Given the description of an element on the screen output the (x, y) to click on. 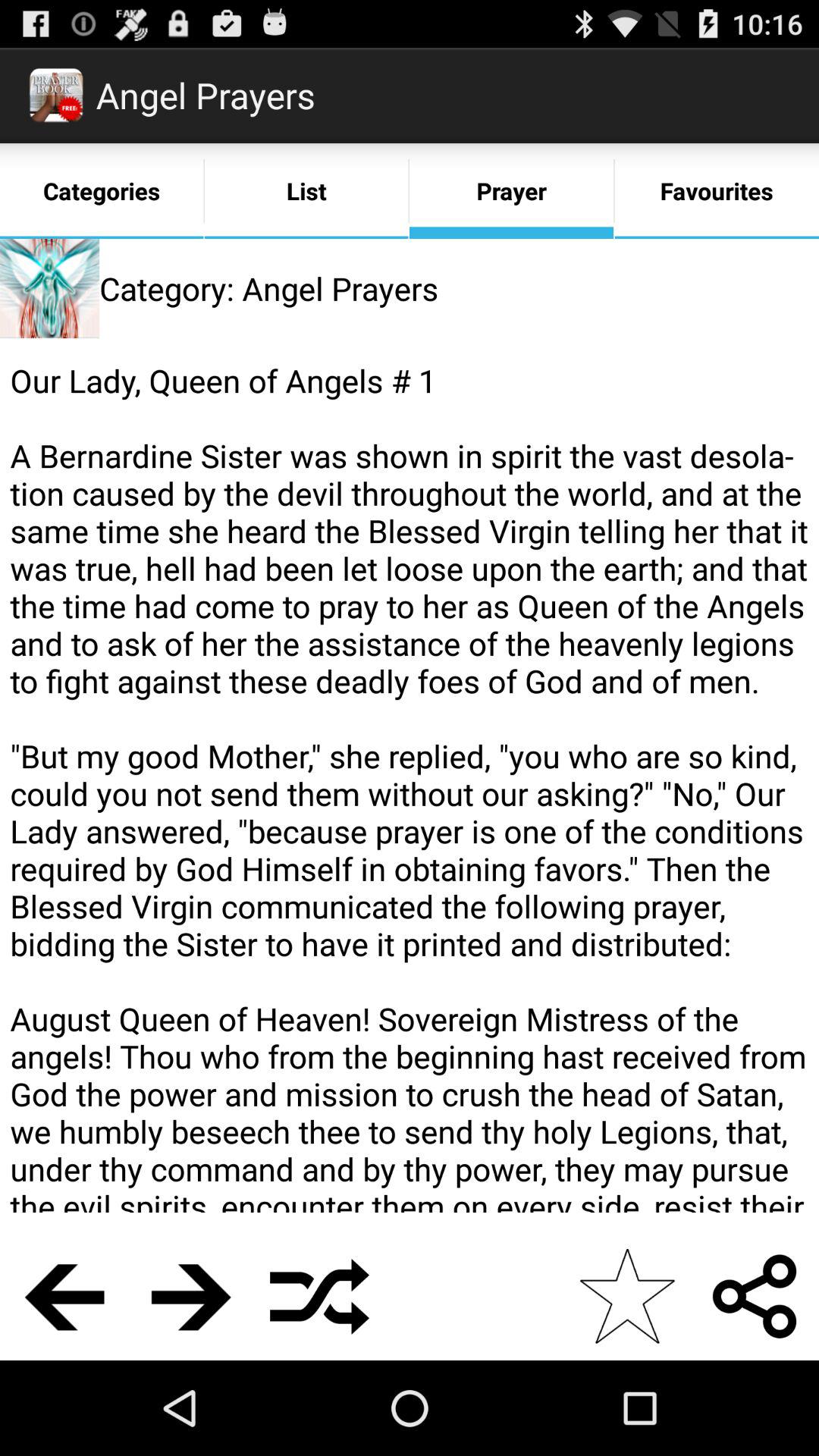
choose icon below the our lady queen item (63, 1296)
